Given the description of an element on the screen output the (x, y) to click on. 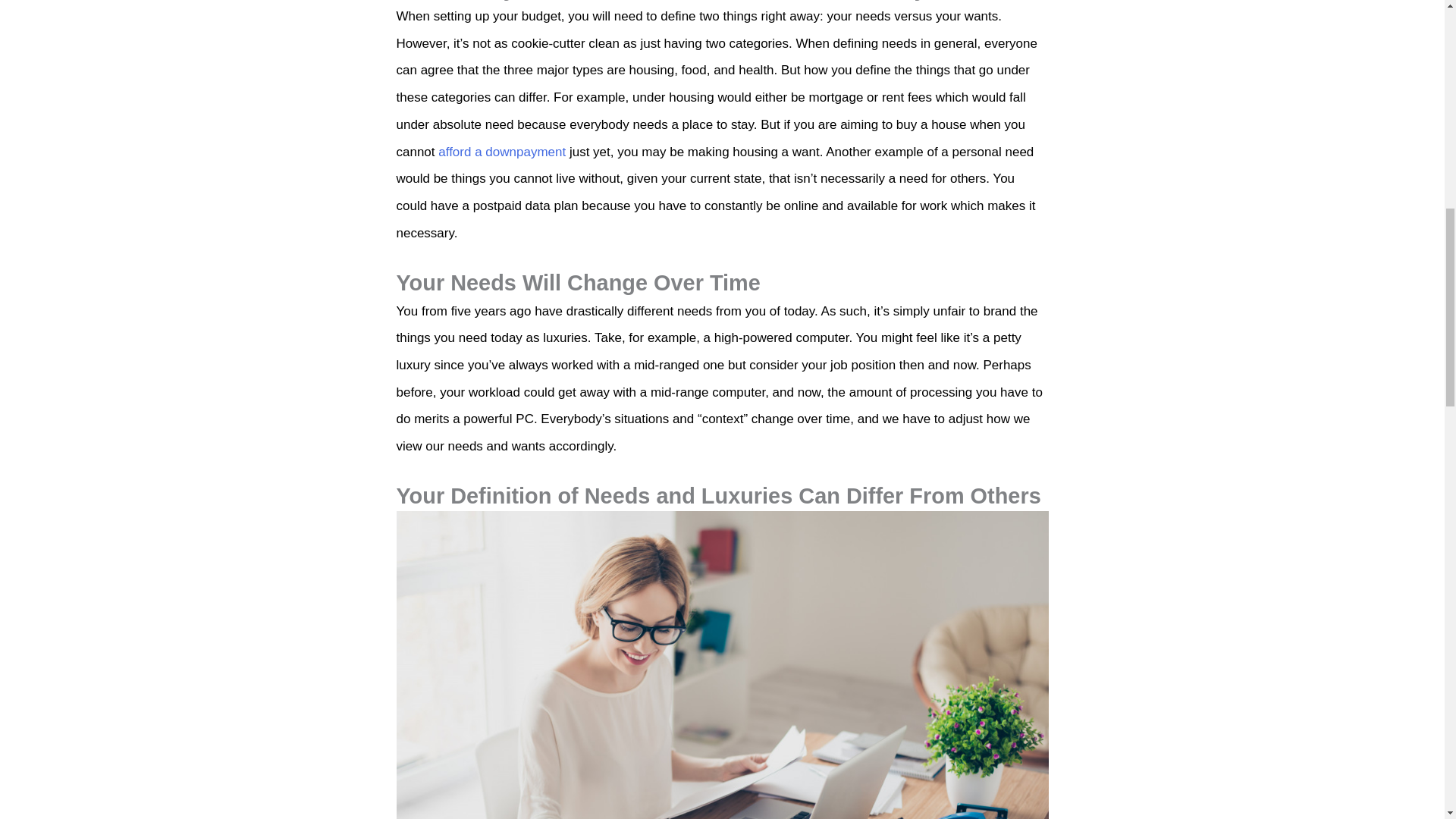
afford a downpayment (502, 151)
